Given the description of an element on the screen output the (x, y) to click on. 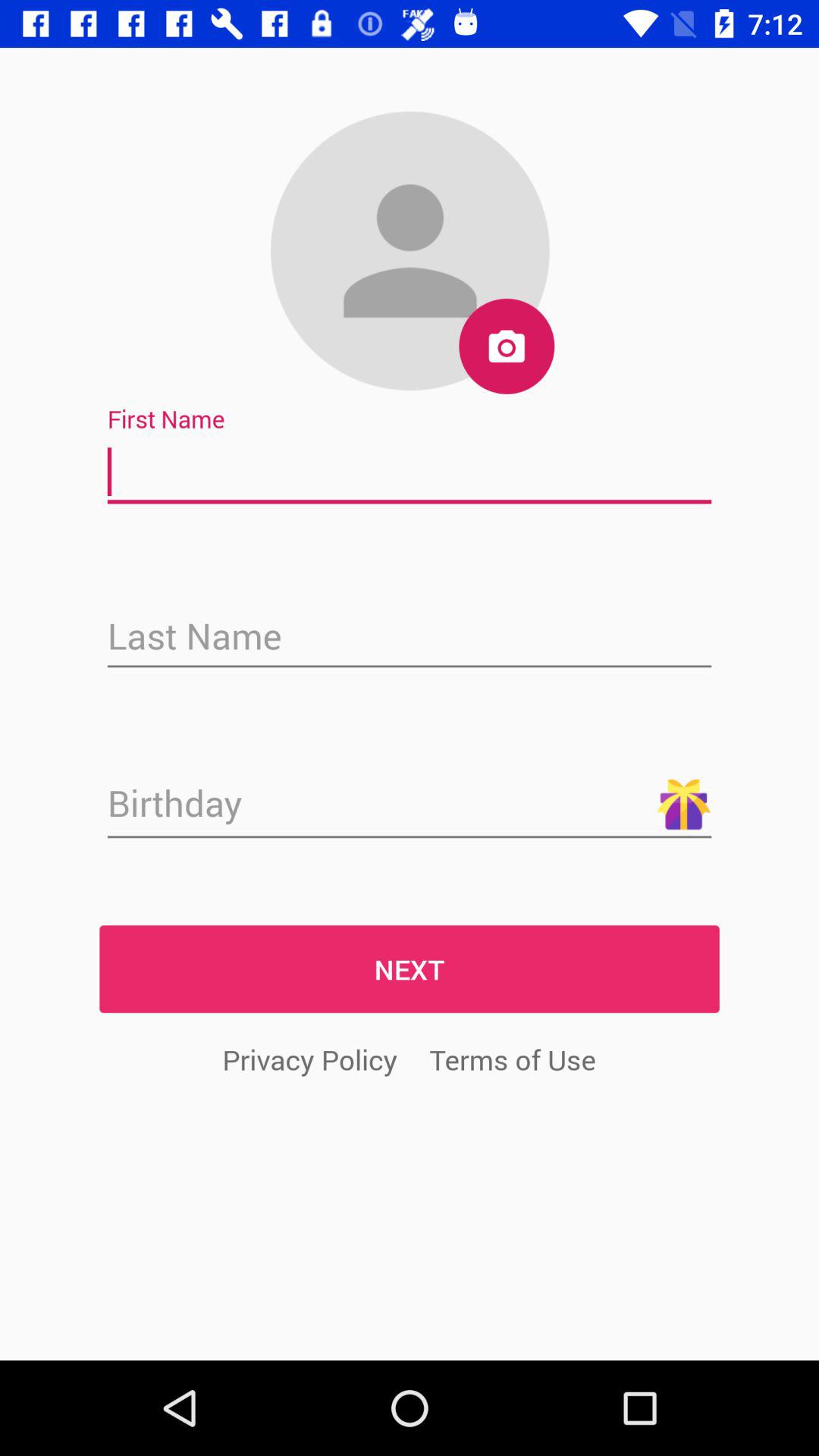
create the email of option (409, 638)
